Given the description of an element on the screen output the (x, y) to click on. 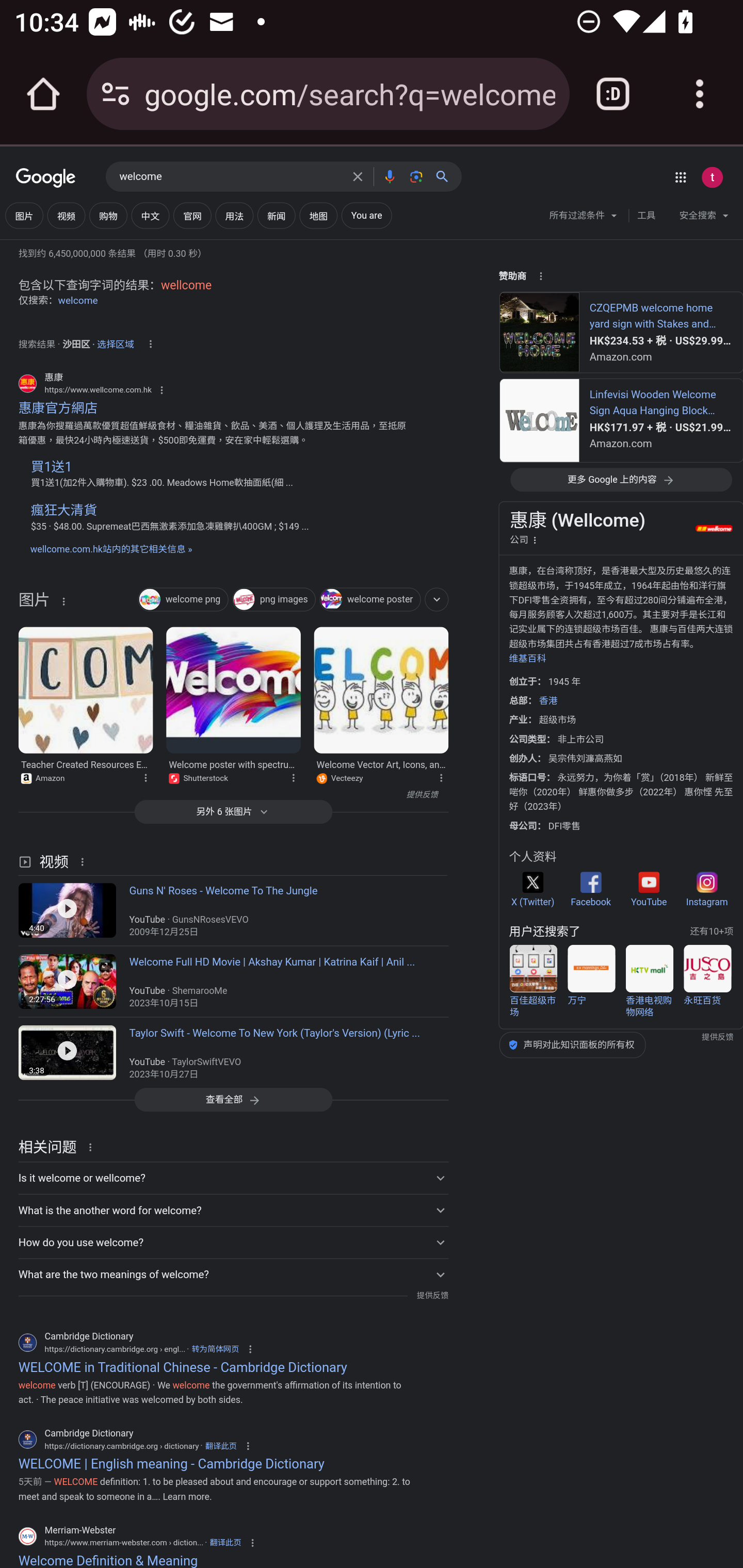
Open the home page (43, 93)
Connection is secure (115, 93)
Switch or close tabs (612, 93)
Customize and control Google Chrome (699, 93)
清除 (357, 176)
按语音搜索 (389, 176)
按图搜索 (415, 176)
搜索 (446, 176)
Google 应用 (680, 176)
Google 账号： test appium (testappium002@gmail.com) (712, 176)
Google (45, 178)
welcome (229, 177)
图片 (24, 215)
视频 (65, 215)
购物 (107, 215)
添加“中文” 中文 (149, 215)
添加“官网” 官网 (191, 215)
添加“用法” 用法 (234, 215)
新闻 (276, 215)
地图 (318, 215)
添加“You are” You are (366, 215)
所有过滤条件 (583, 217)
工具 (646, 215)
安全搜索 (703, 217)
wellcome (185, 285)
welcome (77, 299)
选择区域 (115, 341)
位置信息使用方式 (149, 343)
買1送1 (50, 466)
瘋狂大清貨 (62, 510)
wellcome.com.hk站内的其它相关信息 » (110, 549)
图片 (33, 603)
welcome png (182, 600)
png images (273, 600)
welcome poster (369, 600)
按功能过滤 (436, 599)
关于这条结果的详细信息 (62, 601)
关于这条结果的详细信息 (145, 776)
关于这条结果的详细信息 (292, 776)
关于这条结果的详细信息 (440, 776)
另外 6 张图片 (232, 811)
关于这条结果的详细信息 (85, 861)
查看全部 (233, 1098)
关于这条结果的详细信息 (93, 1146)
Is it welcome or wellcome? (232, 1177)
What is the another word for welcome? (232, 1210)
How do you use welcome? (232, 1242)
What are the two meanings of welcome? (232, 1274)
提供反馈 (432, 1295)
转为简体网页 (214, 1348)
翻译此页 (220, 1445)
翻译此页 (225, 1542)
